Given the description of an element on the screen output the (x, y) to click on. 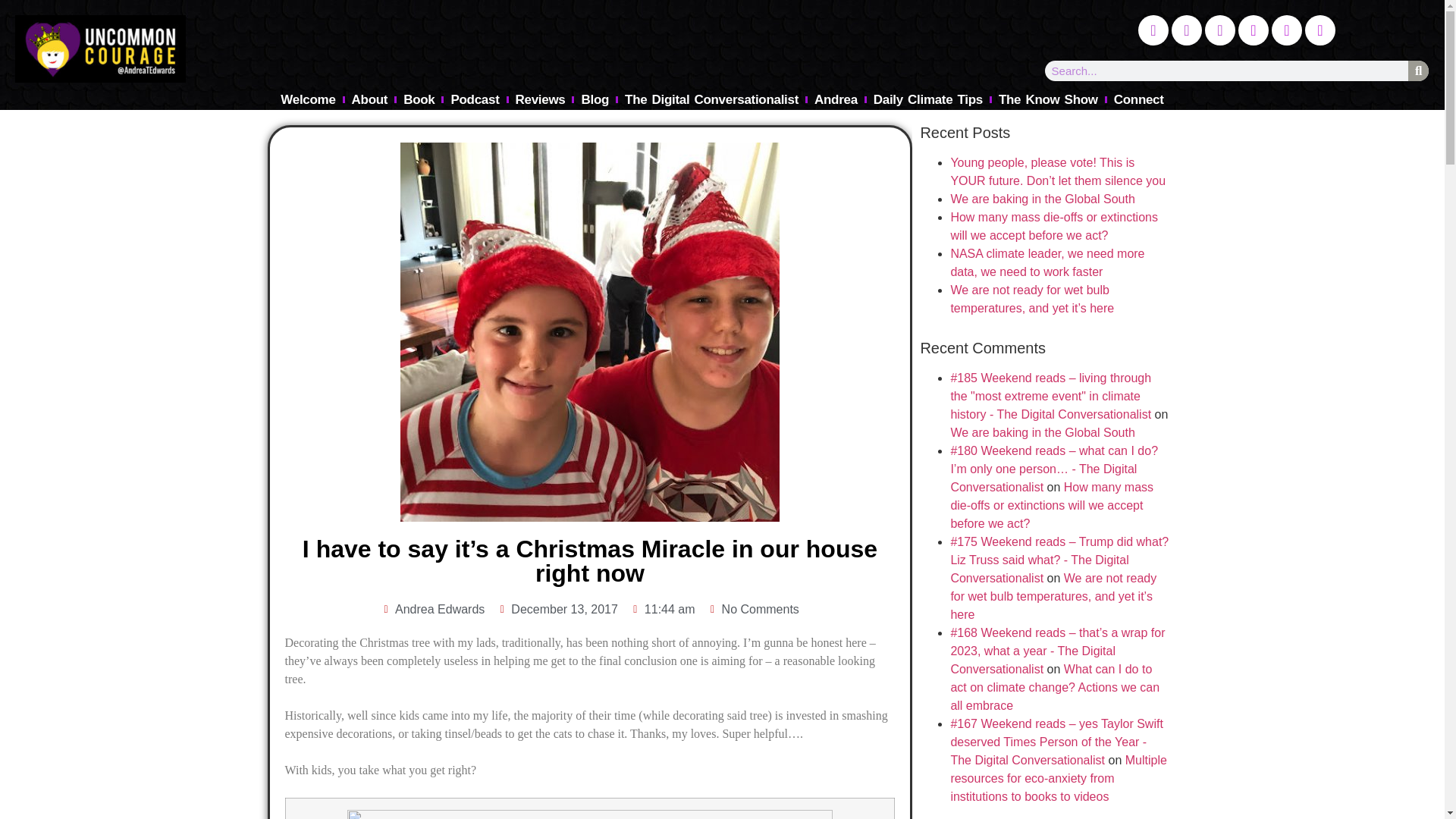
Book (419, 98)
No Comments (753, 609)
Daily Climate Tips (927, 98)
About (370, 98)
The Digital Conversationalist (711, 98)
Connect (1139, 98)
Blog (594, 98)
Podcast (474, 98)
The Know Show (1047, 98)
Welcome (307, 98)
Andrea Edwards (432, 609)
Andrea (835, 98)
December 13, 2017 (556, 609)
Reviews (540, 98)
